Given the description of an element on the screen output the (x, y) to click on. 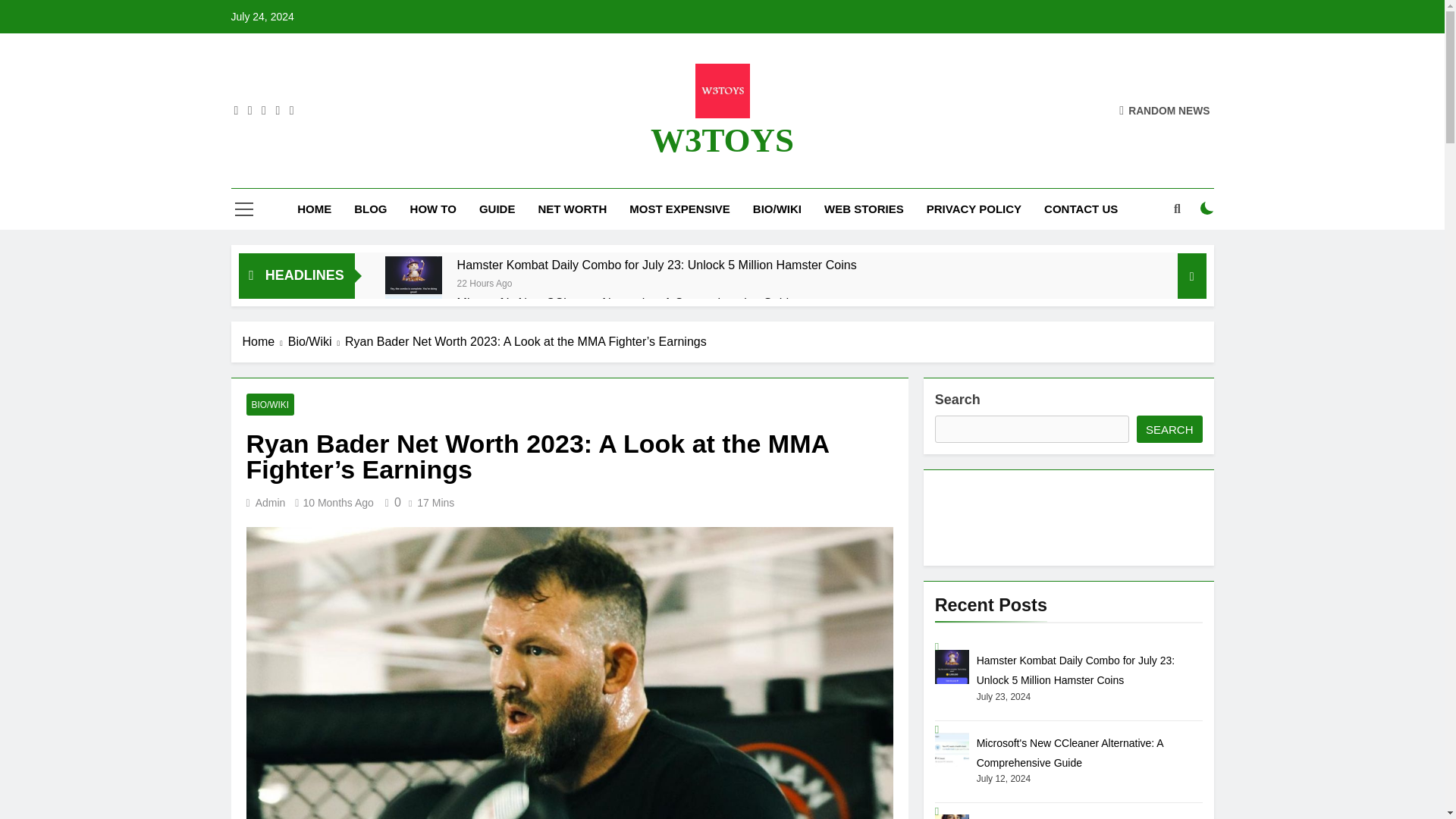
HOW TO (432, 209)
on (1206, 208)
NET WORTH (571, 209)
MOST EXPENSIVE (679, 209)
GUIDE (497, 209)
WEB STORIES (863, 209)
W3TOYS (721, 139)
CONTACT US (1080, 209)
HOME (313, 209)
BLOG (369, 209)
RANDOM NEWS (1164, 110)
22 Hours Ago (484, 282)
